Given the description of an element on the screen output the (x, y) to click on. 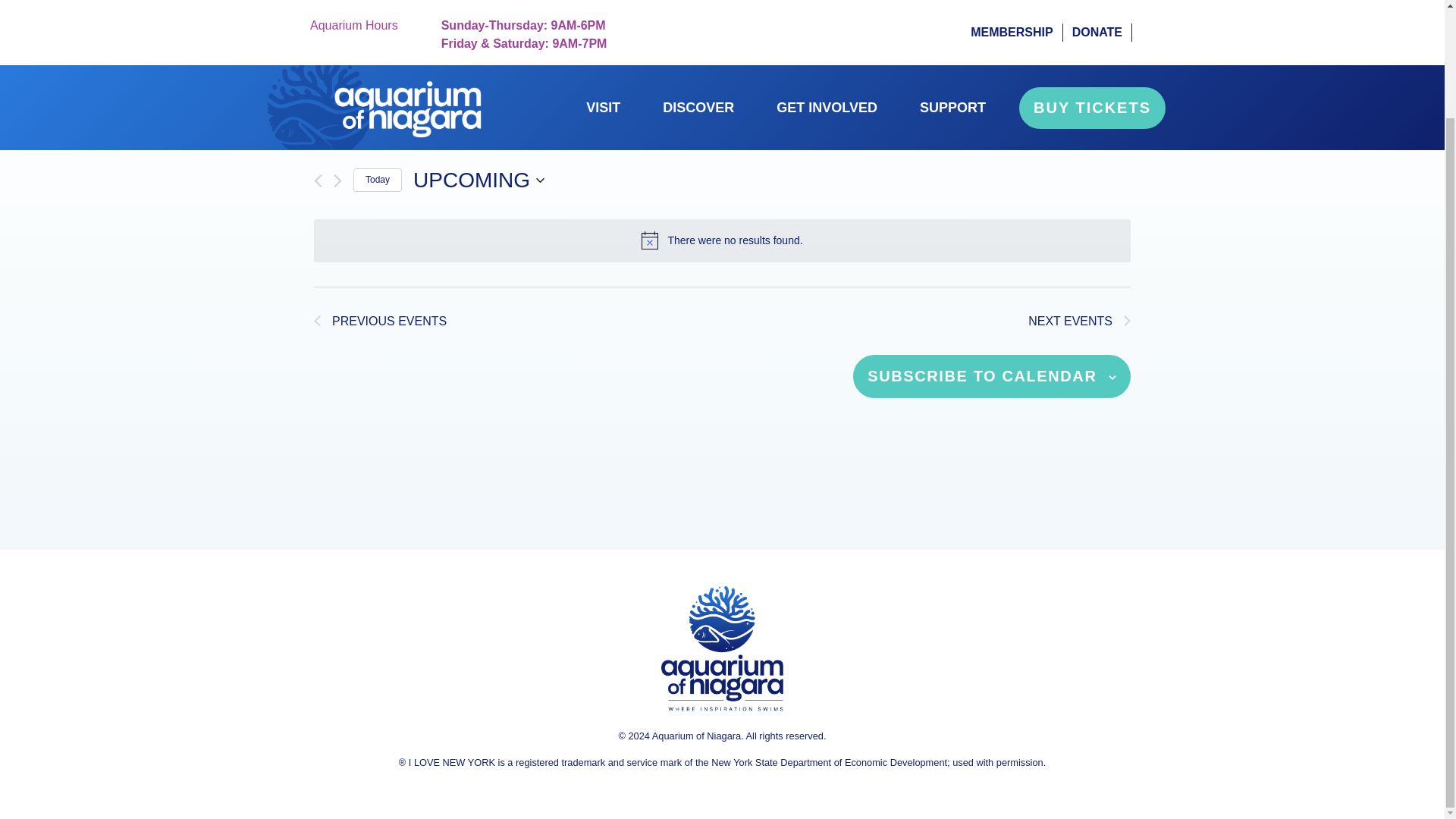
Previous Events (380, 321)
Click to select today's date (377, 179)
Next Events (1079, 321)
Click to toggle datepicker (478, 180)
